Given the description of an element on the screen output the (x, y) to click on. 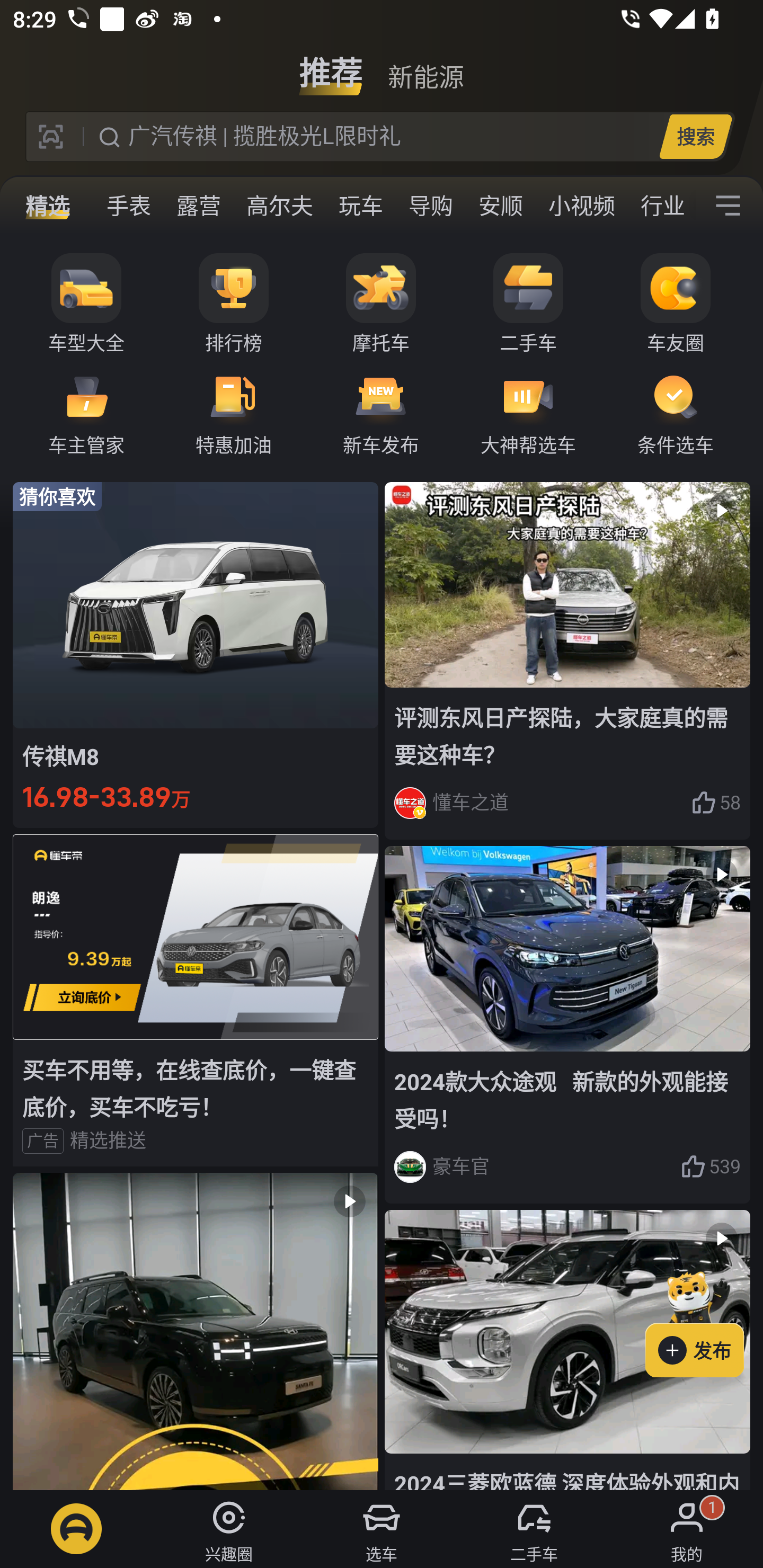
推荐 (330, 65)
新能源 (425, 65)
搜索 (695, 136)
手表 (128, 205)
露营 (198, 205)
高尔夫 (279, 205)
玩车 (360, 205)
导购 (430, 205)
安顺 (500, 205)
小视频 (581, 205)
行业 (661, 205)
 (727, 205)
精选 (47, 206)
车型大全 (86, 303)
排行榜 (233, 303)
摩托车 (380, 303)
二手车 (528, 303)
车友圈 (675, 303)
车主管家 (86, 412)
特惠加油 (233, 412)
新车发布 (380, 412)
大神帮选车 (528, 412)
条件选车 (675, 412)
猜你喜欢 传祺M8 16.98-33.89万 (195, 654)
 评测东风日产探陆，大家庭真的需要这种车？ 懂车之道 58 (567, 659)
58 (715, 802)
买车不用等，在线查底价，一键查底价，买车不吃亏！ 广告 精选推送 (195, 1000)
 2024款大众途观   新款的外观能接受吗！ 豪车官 539 (567, 1025)
539 (710, 1166)
 (195, 1330)
 2024三菱欧蓝德 深度体验外观和内饰 三菱真的要退出中国市场了？ (567, 1349)
发布 (704, 1320)
 兴趣圈 (228, 1528)
 选车 (381, 1528)
 二手车 (533, 1528)
 我的 (686, 1528)
